Given the description of an element on the screen output the (x, y) to click on. 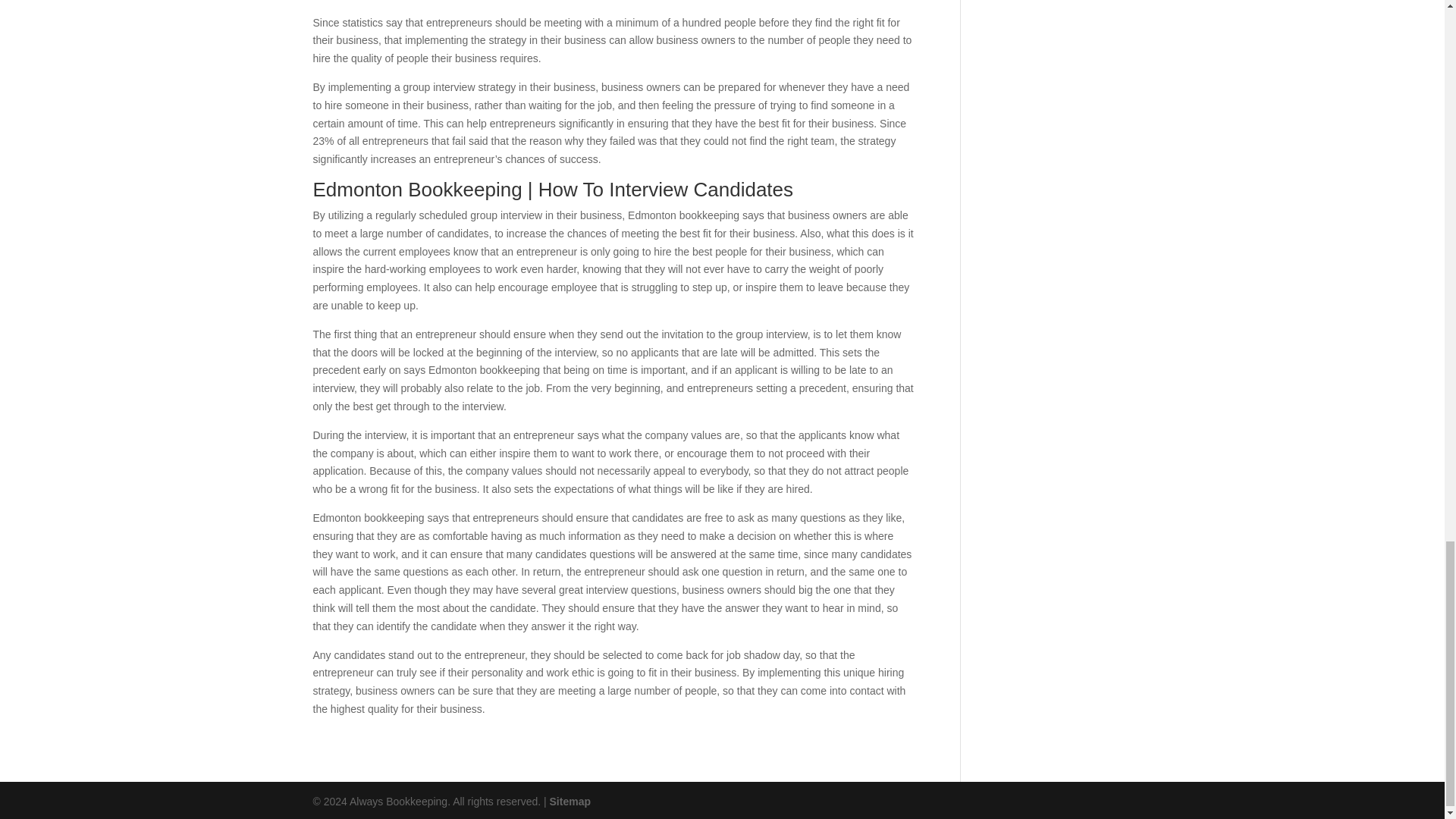
Sitemap (570, 801)
